Given the description of an element on the screen output the (x, y) to click on. 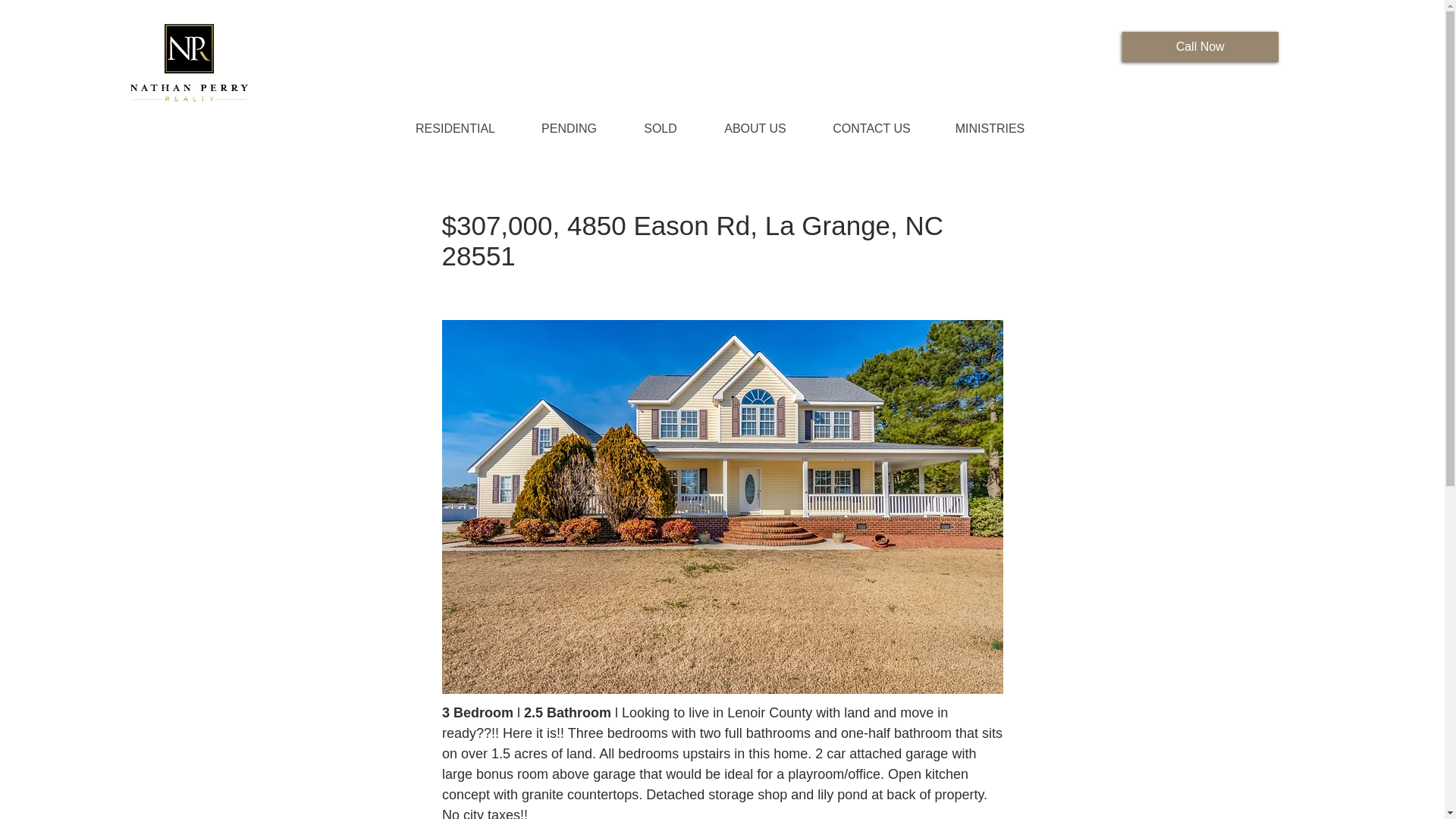
Call Now (1200, 46)
SOLD (660, 128)
PENDING (569, 128)
CONTACT US (871, 128)
MINISTRIES (990, 128)
ABOUT US (754, 128)
RESIDENTIAL (454, 128)
